Given the description of an element on the screen output the (x, y) to click on. 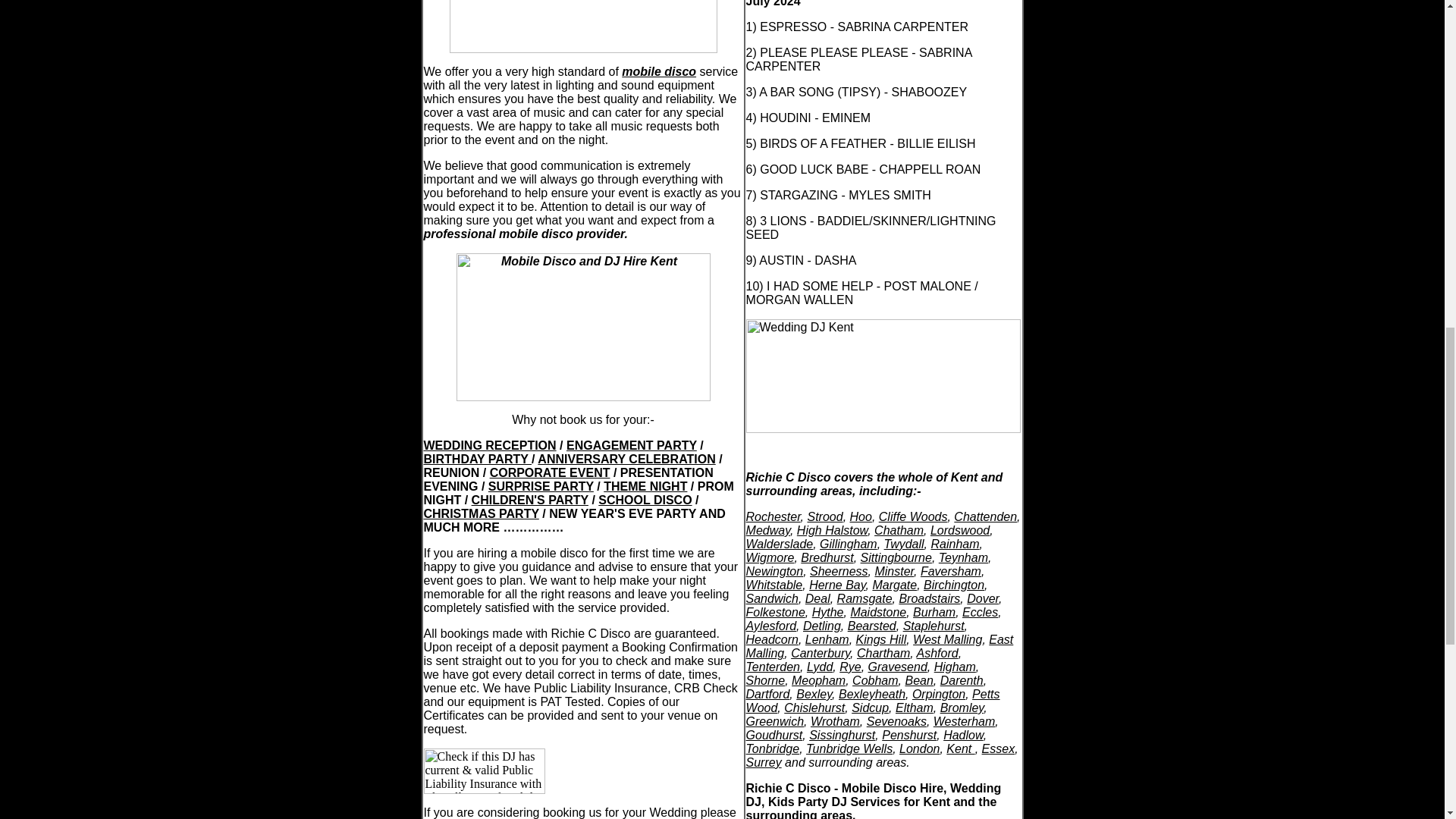
SCHOOL DISCO (644, 499)
High Halstow (831, 530)
Lordswood (960, 530)
Chattenden (984, 516)
Chatham (899, 530)
Strood (824, 516)
ANNIVERSARY CELEBRATION (625, 459)
CHRISTMAS PARTY (480, 513)
SURPRISE PARTY (540, 486)
CORPORATE EVENT (549, 472)
THEME NIGHT (645, 486)
BIRTHDAY PARTY (477, 459)
mobile disco (658, 71)
WEDDING RECEPTION (489, 445)
Hoo (861, 516)
